Given the description of an element on the screen output the (x, y) to click on. 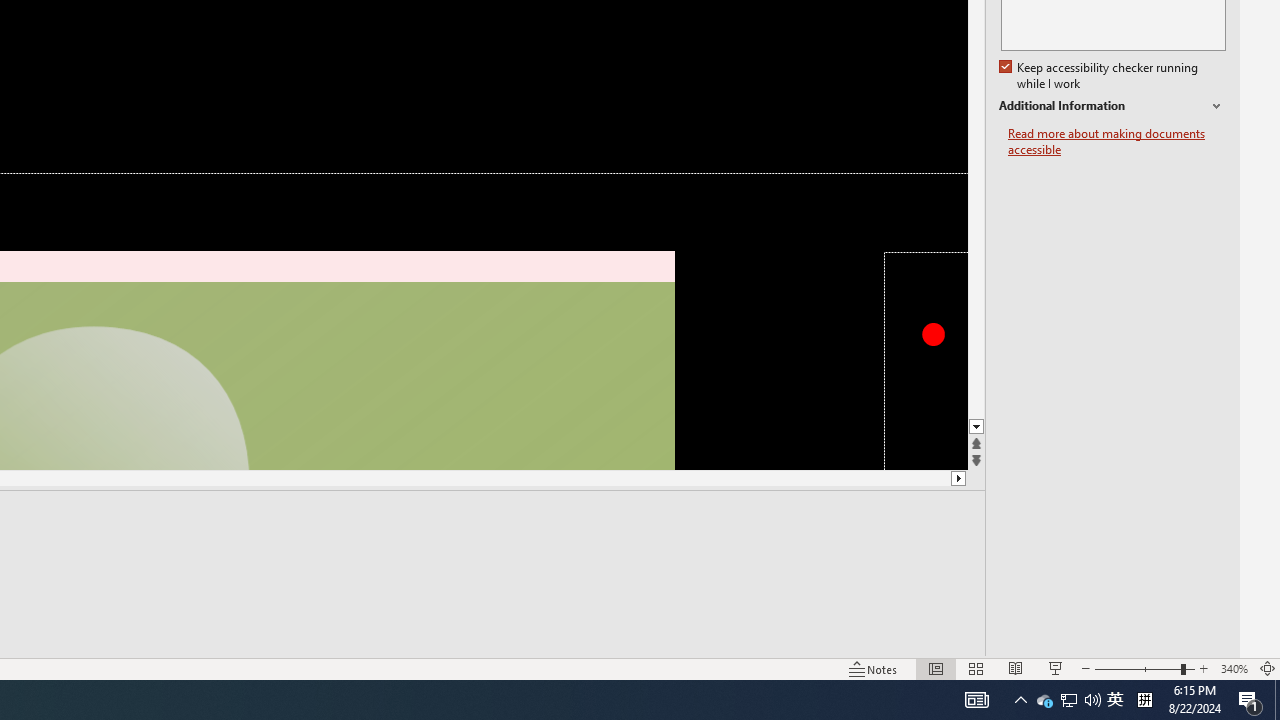
Zoom 340% (1234, 668)
